Given the description of an element on the screen output the (x, y) to click on. 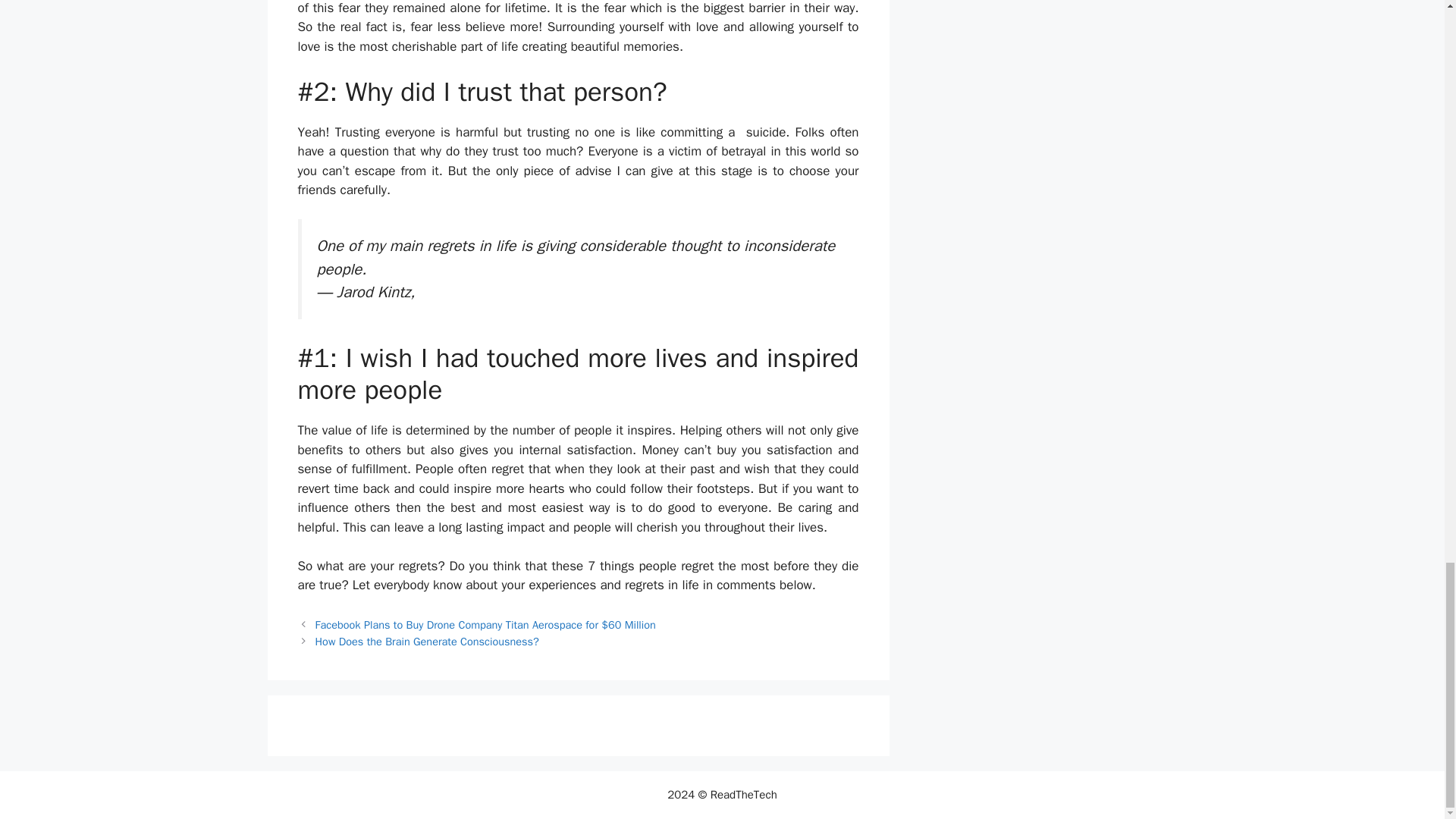
How Does the Brain Generate Consciousness? (426, 641)
